Given the description of an element on the screen output the (x, y) to click on. 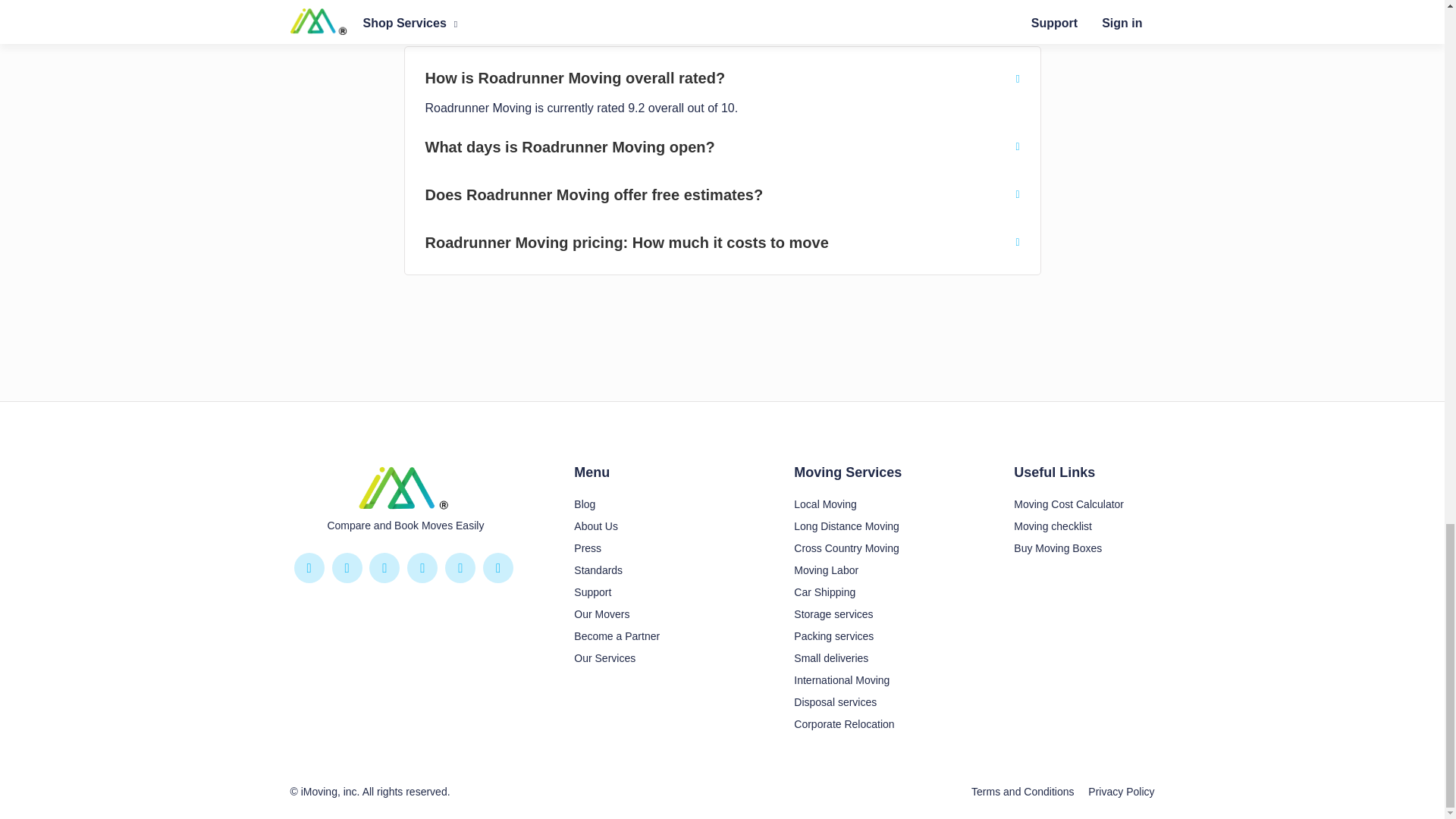
About Us (595, 526)
Become a Partner (616, 635)
Our Movers (600, 613)
What days is Roadrunner Moving open? (722, 146)
Press (587, 548)
Support (592, 592)
Standards (598, 570)
How is Roadrunner Moving overall rated? (722, 77)
logo (404, 488)
Does Roadrunner Moving offer free estimates? (722, 194)
